Given the description of an element on the screen output the (x, y) to click on. 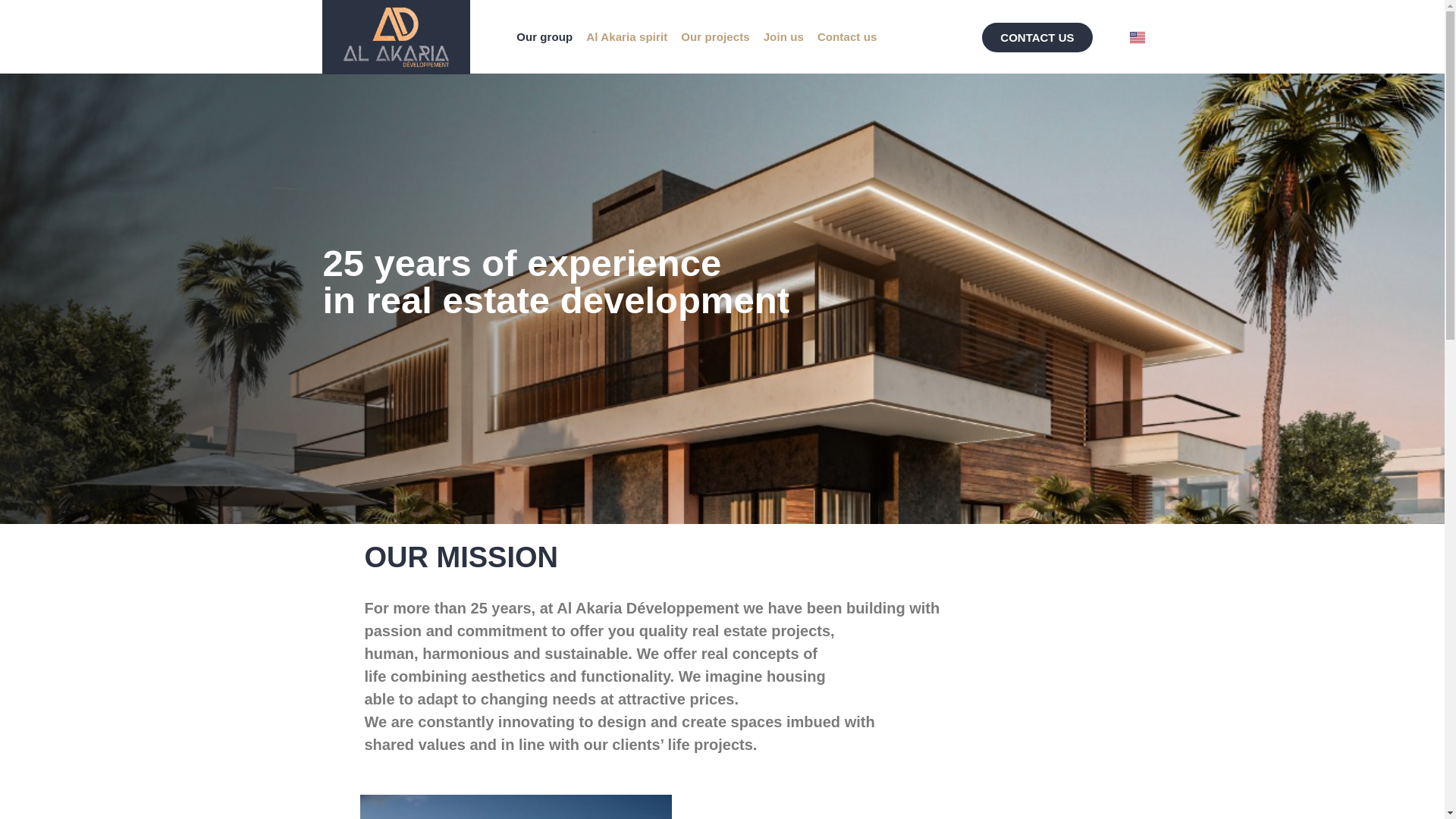
CONTACT US (1036, 37)
Our group (544, 36)
Our projects (714, 36)
Al Akaria spirit (626, 36)
Contact us (846, 36)
Join us (783, 36)
